Given the description of an element on the screen output the (x, y) to click on. 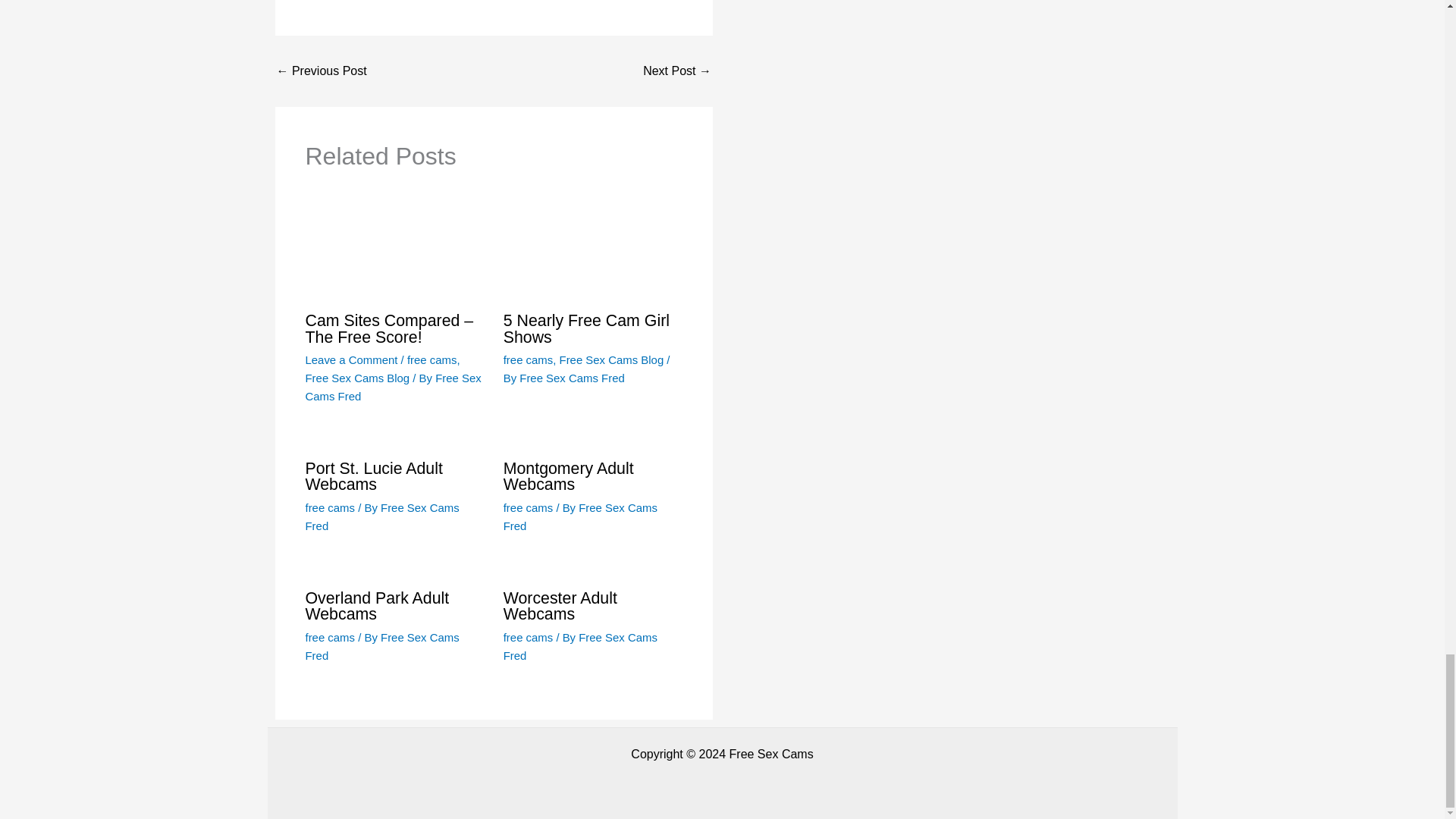
View all posts by Free Sex Cams Fred (381, 645)
View all posts by Free Sex Cams Fred (571, 377)
San Diego Adult Webcams (677, 70)
View all posts by Free Sex Cams Fred (392, 386)
View all posts by Free Sex Cams Fred (580, 645)
Port St. Lucie Adult Webcams (321, 70)
View all posts by Free Sex Cams Fred (381, 516)
View all posts by Free Sex Cams Fred (580, 516)
